Given the description of an element on the screen output the (x, y) to click on. 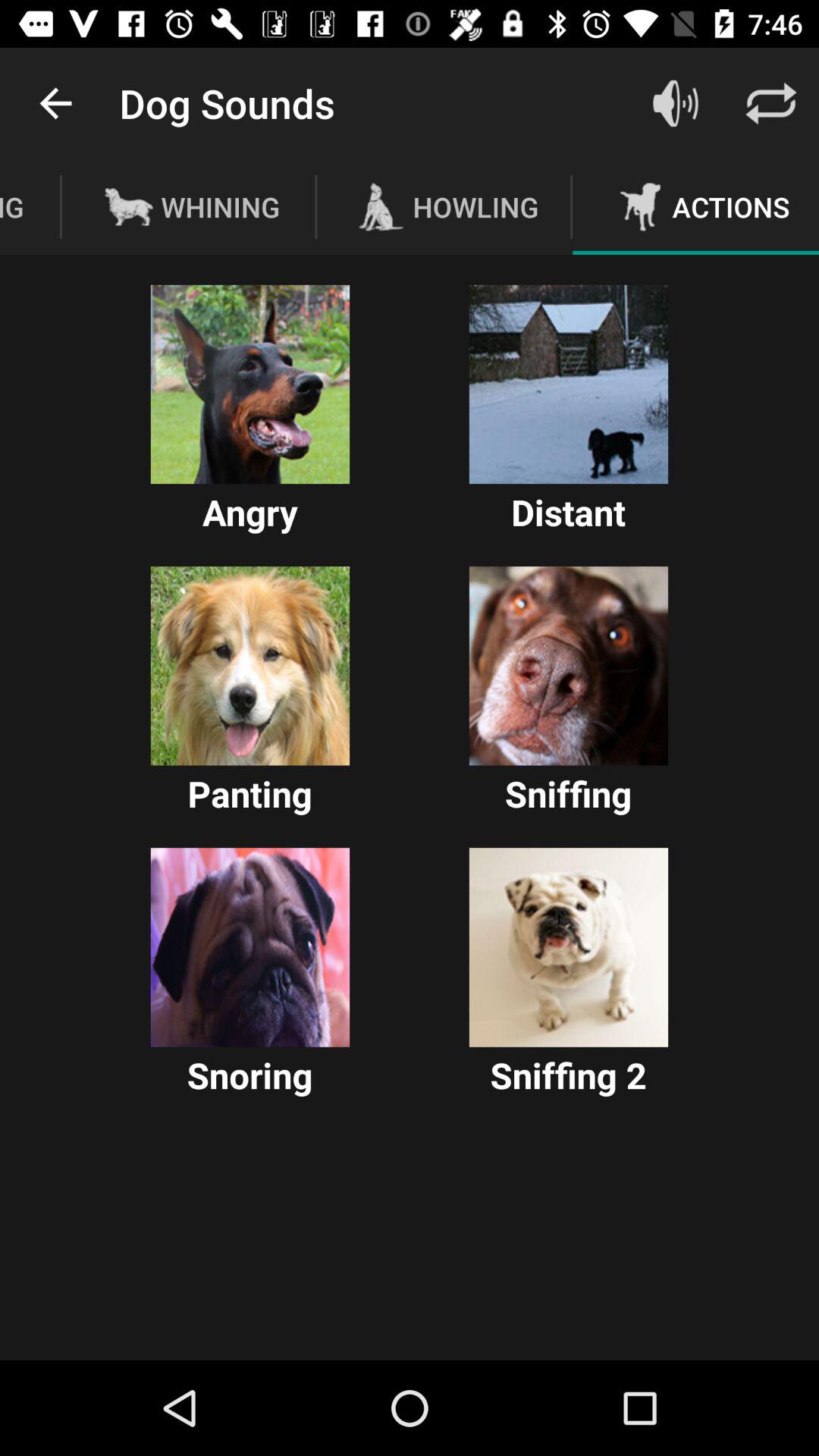
snoring dog sound (249, 947)
